Given the description of an element on the screen output the (x, y) to click on. 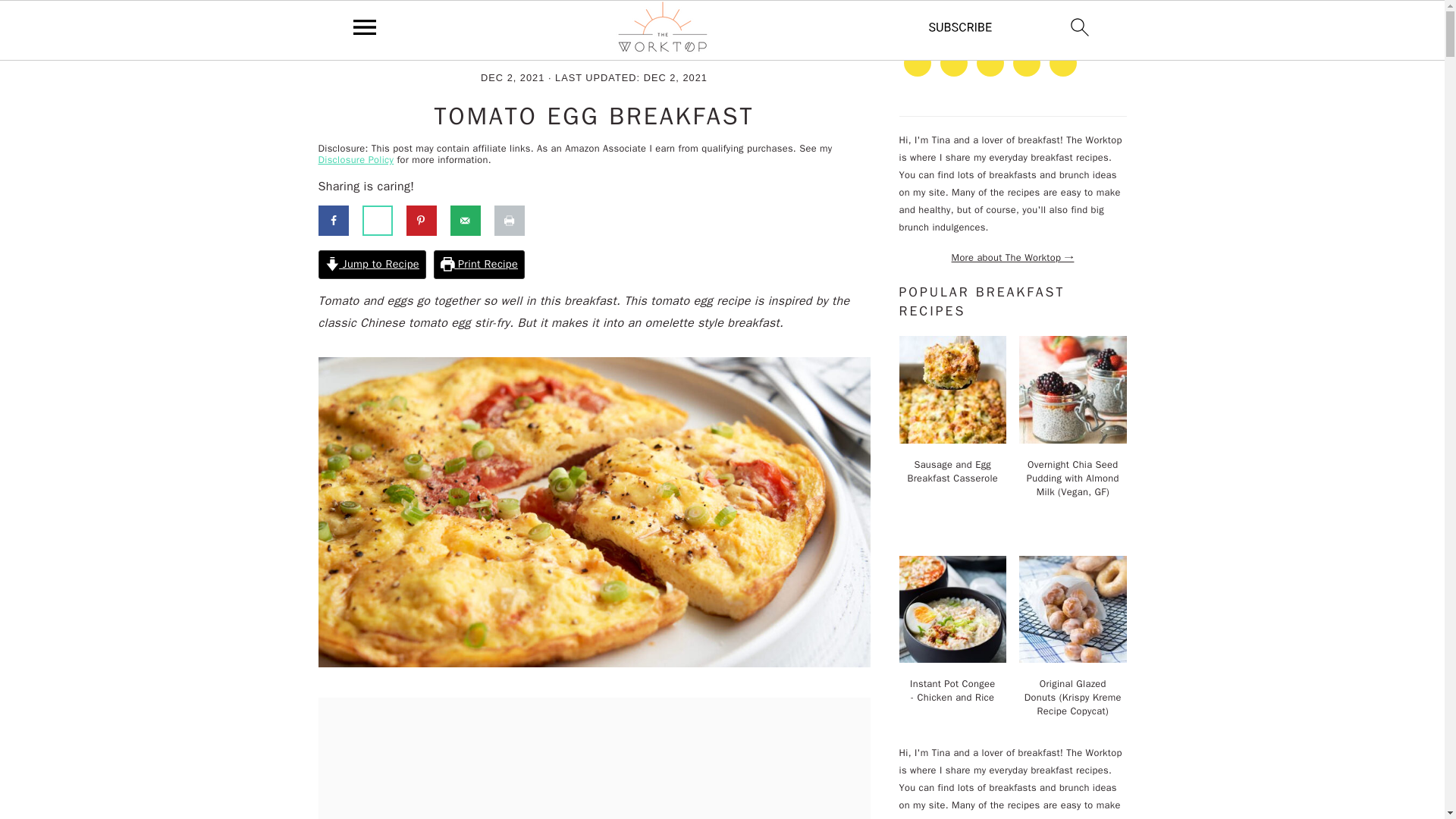
Print this webpage (516, 220)
Jump to Recipe (372, 264)
Share on X (384, 220)
Disclosure Policy (356, 159)
Breakfast and Brunch Recipes (422, 44)
Share on Facebook (340, 220)
Home (330, 44)
Print Recipe (478, 264)
menu icon (365, 26)
Save to Pinterest (427, 220)
search icon (1080, 26)
Send over email (472, 220)
